Given the description of an element on the screen output the (x, y) to click on. 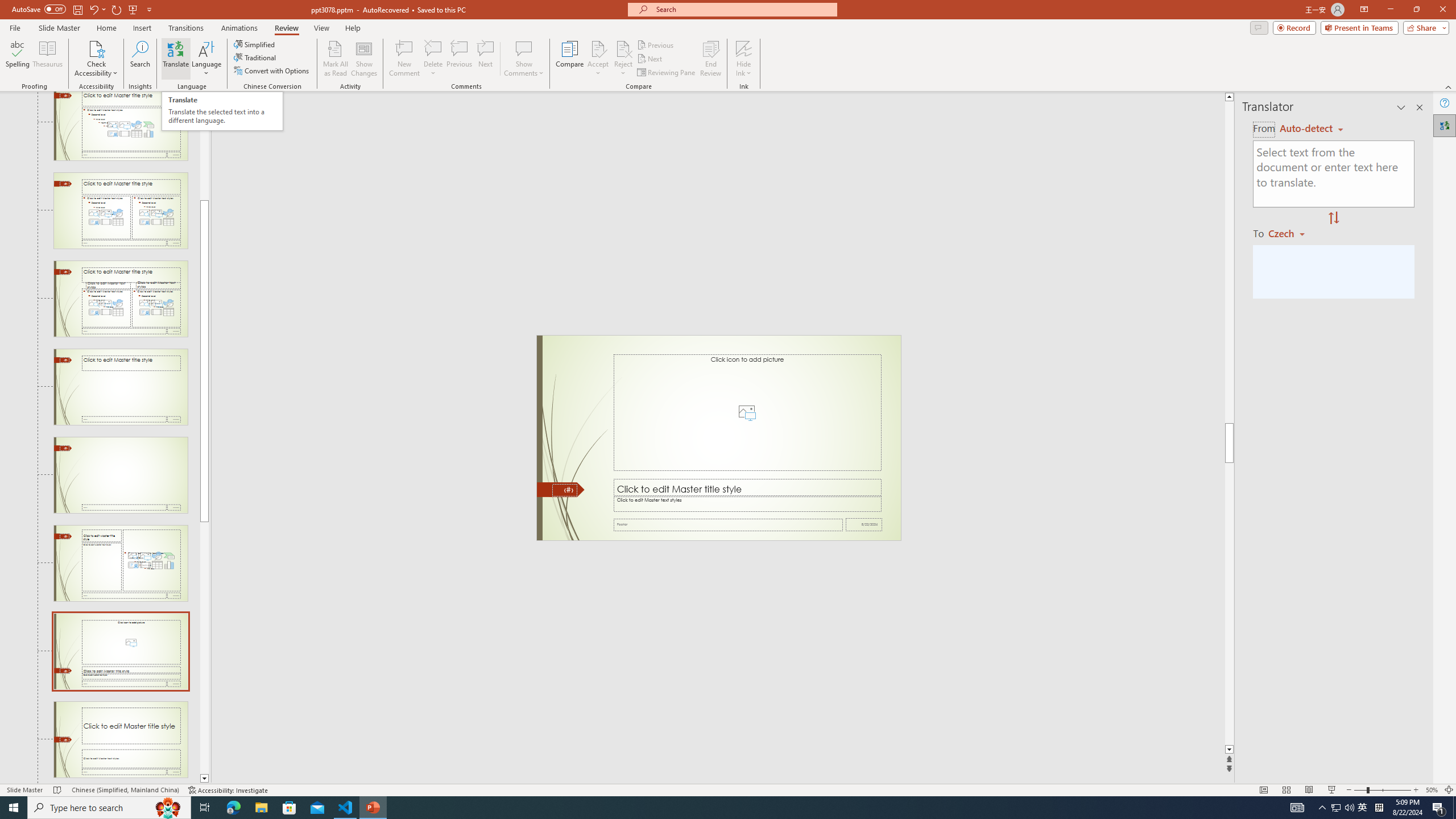
Slide Two Content Layout: used by no slides (120, 210)
Show Comments (524, 48)
Convert with Options... (272, 69)
Show Changes (363, 58)
Language (206, 58)
